Given the description of an element on the screen output the (x, y) to click on. 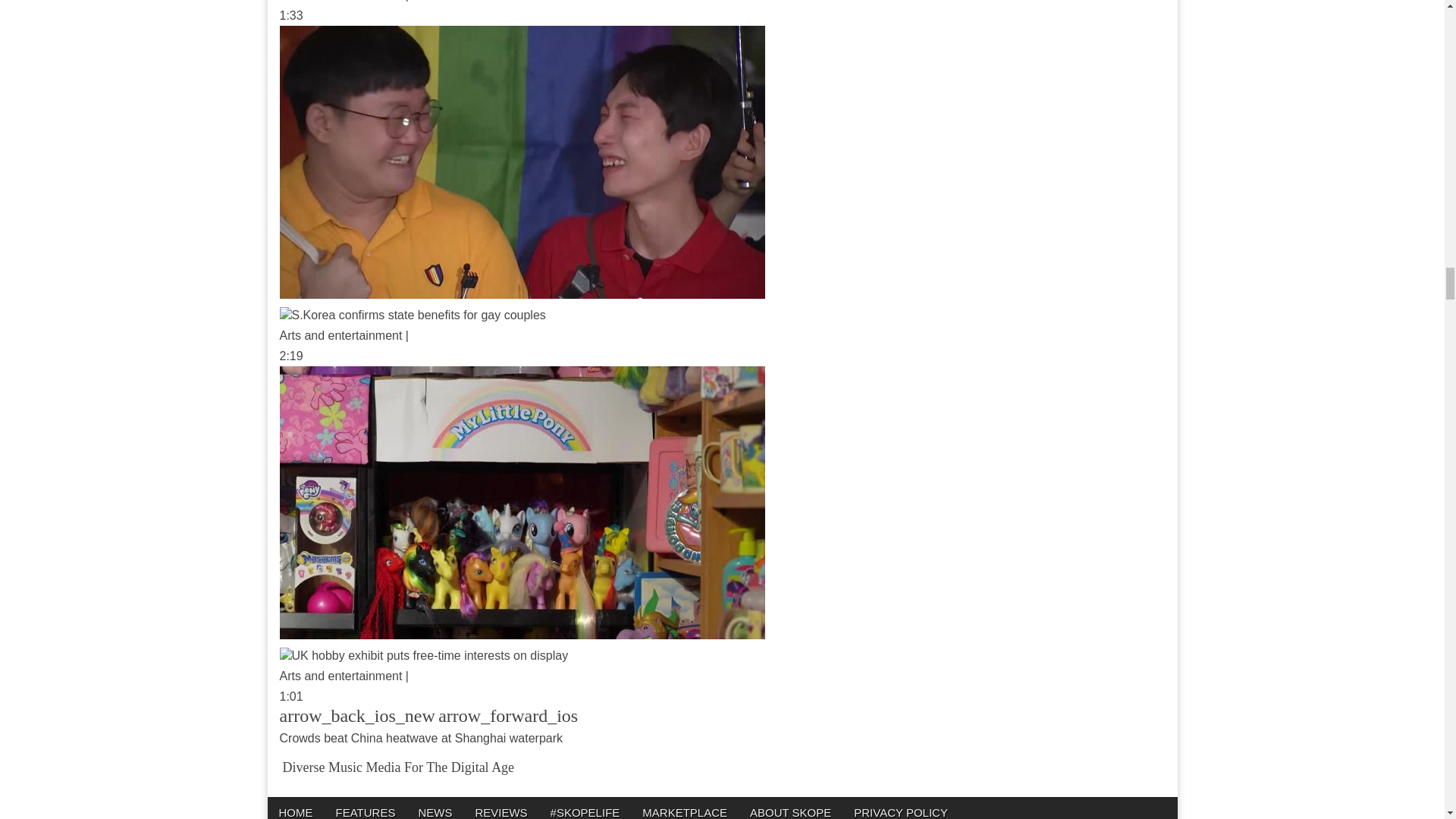
ABOUT SKOPE (790, 807)
HOME (294, 807)
PRIVACY POLICY (901, 807)
NEWS (434, 807)
MARKETPLACE (684, 807)
FEATURES (365, 807)
REVIEWS (500, 807)
